Given the description of an element on the screen output the (x, y) to click on. 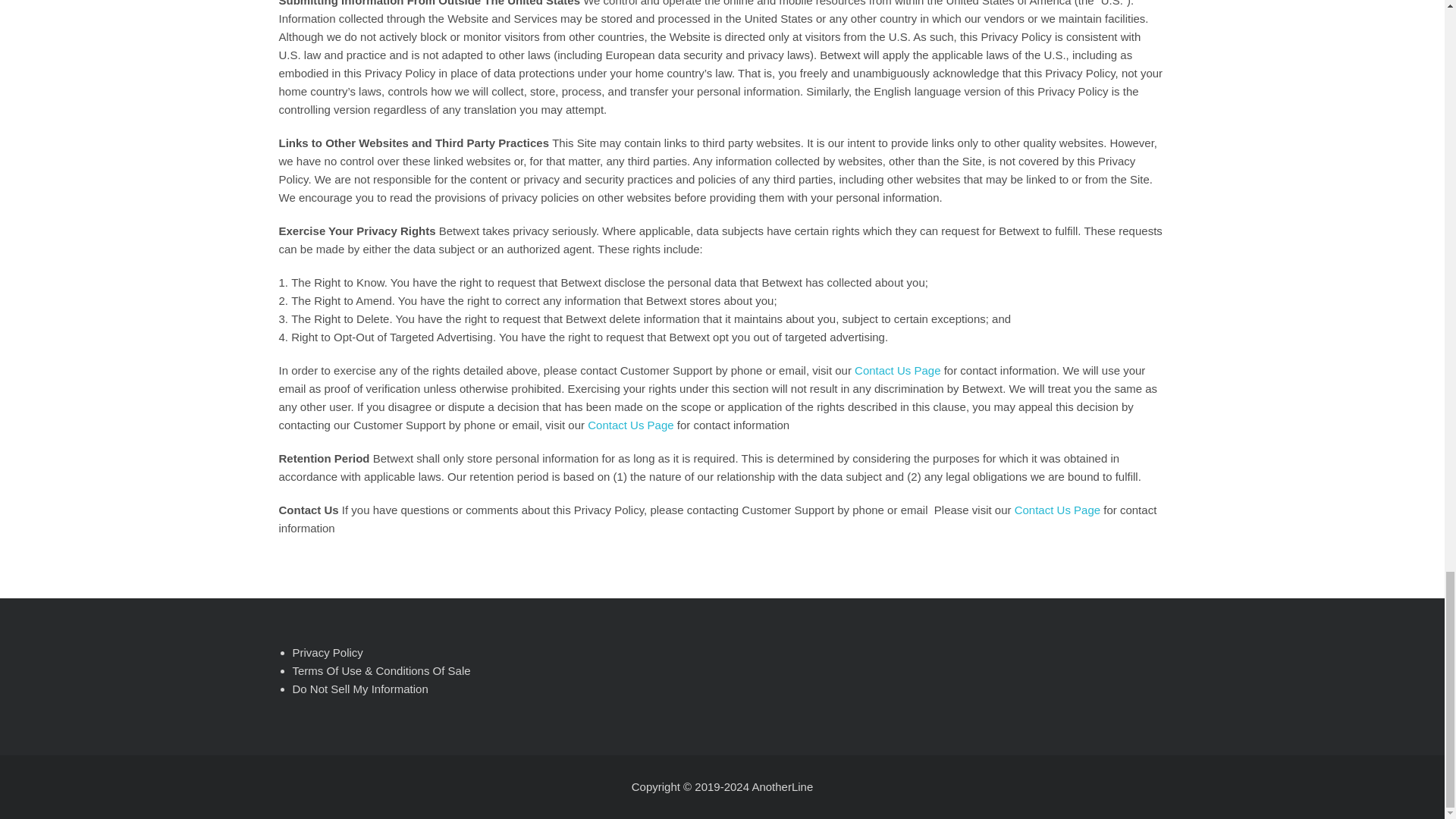
Privacy Policy (327, 652)
Contact Us Page (630, 424)
Do Not Sell My Information (360, 688)
Contact Us Page (897, 369)
Contact Us Page (1057, 509)
